Given the description of an element on the screen output the (x, y) to click on. 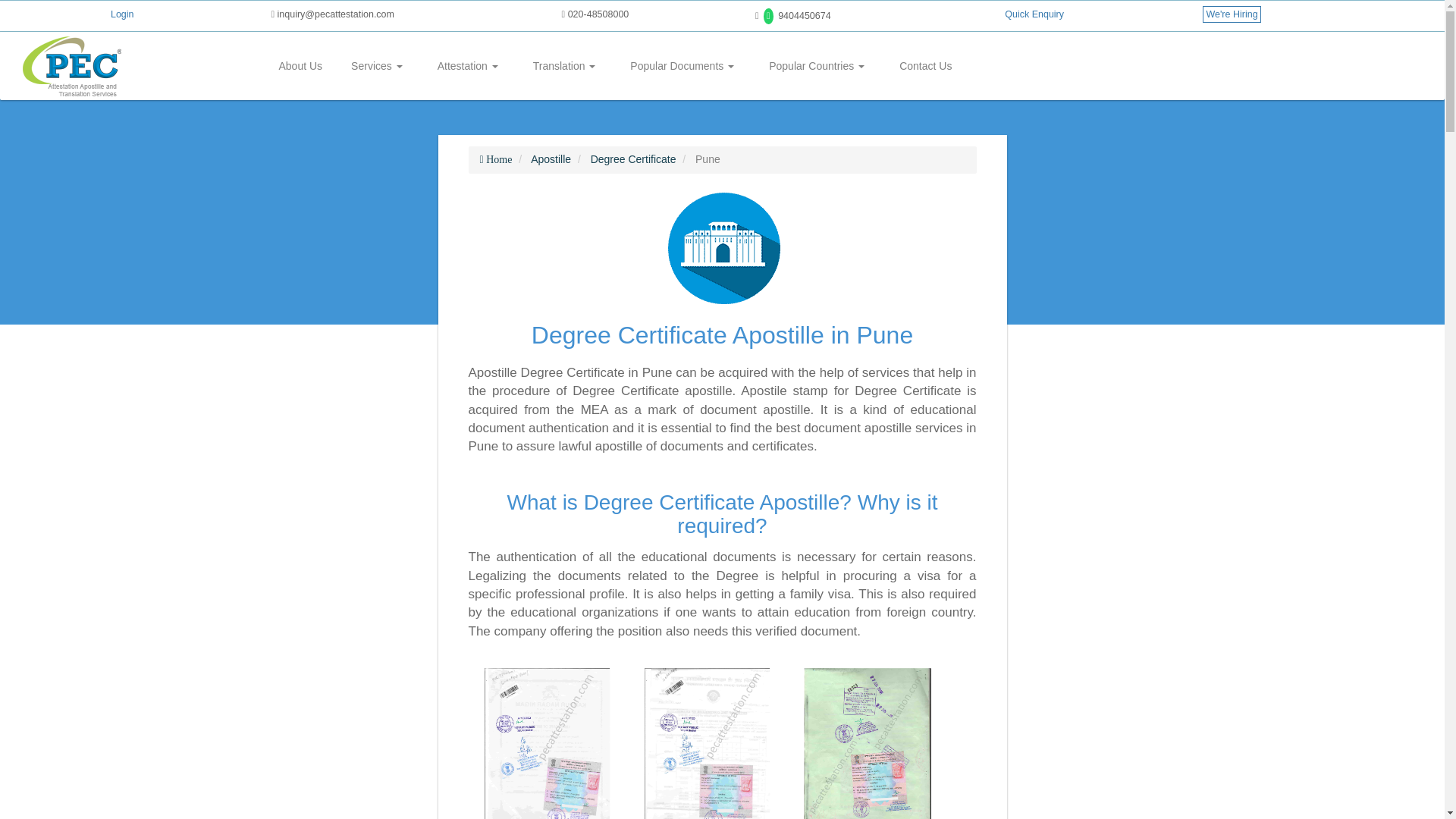
We're Hiring (1231, 13)
Services (376, 65)
Popular Countries (816, 65)
020-48508000 (595, 14)
Popular Documents (681, 65)
Services (376, 65)
Translation (564, 65)
9404450674 (793, 15)
Login (121, 14)
Contact Us (925, 65)
